Given the description of an element on the screen output the (x, y) to click on. 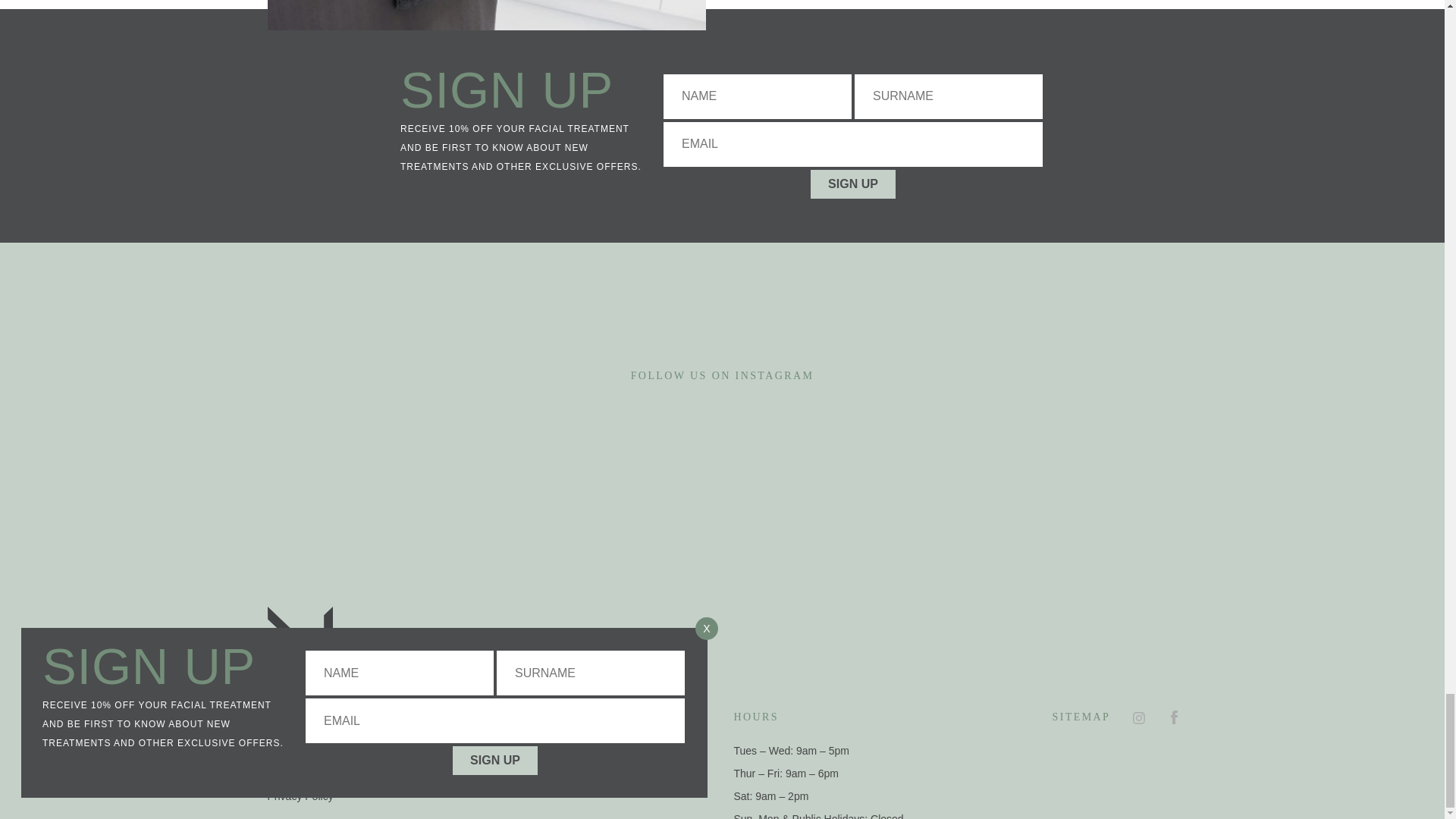
SIGN UP (852, 184)
